Given the description of an element on the screen output the (x, y) to click on. 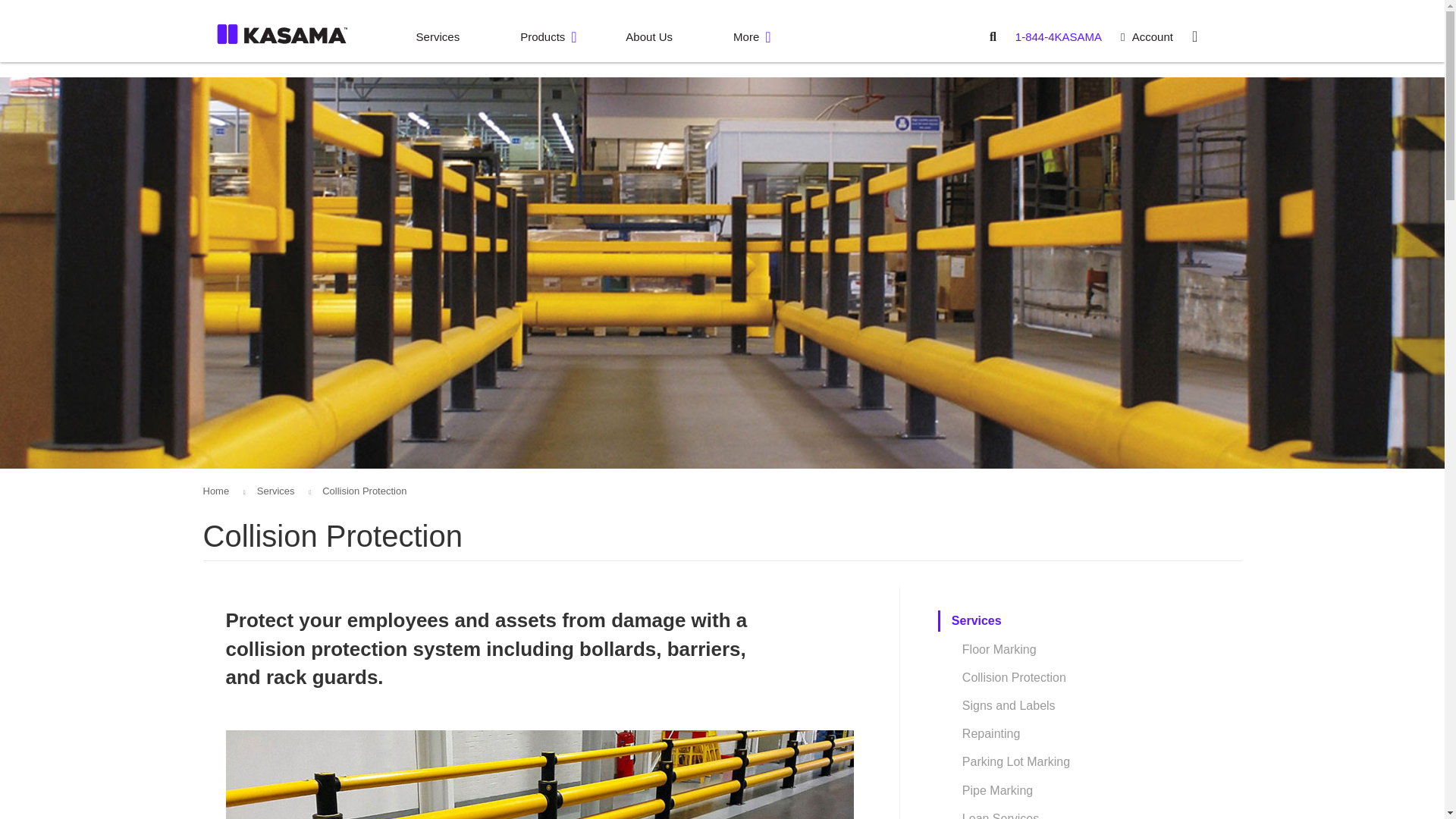
Products (541, 37)
Services (438, 37)
About Us (649, 37)
